Given the description of an element on the screen output the (x, y) to click on. 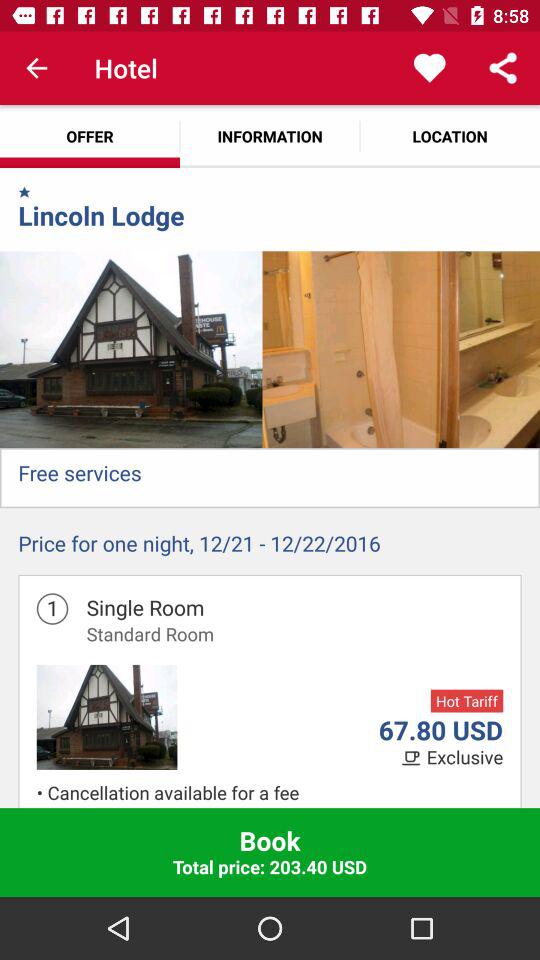
tap the item next to the hotel app (36, 68)
